Given the description of an element on the screen output the (x, y) to click on. 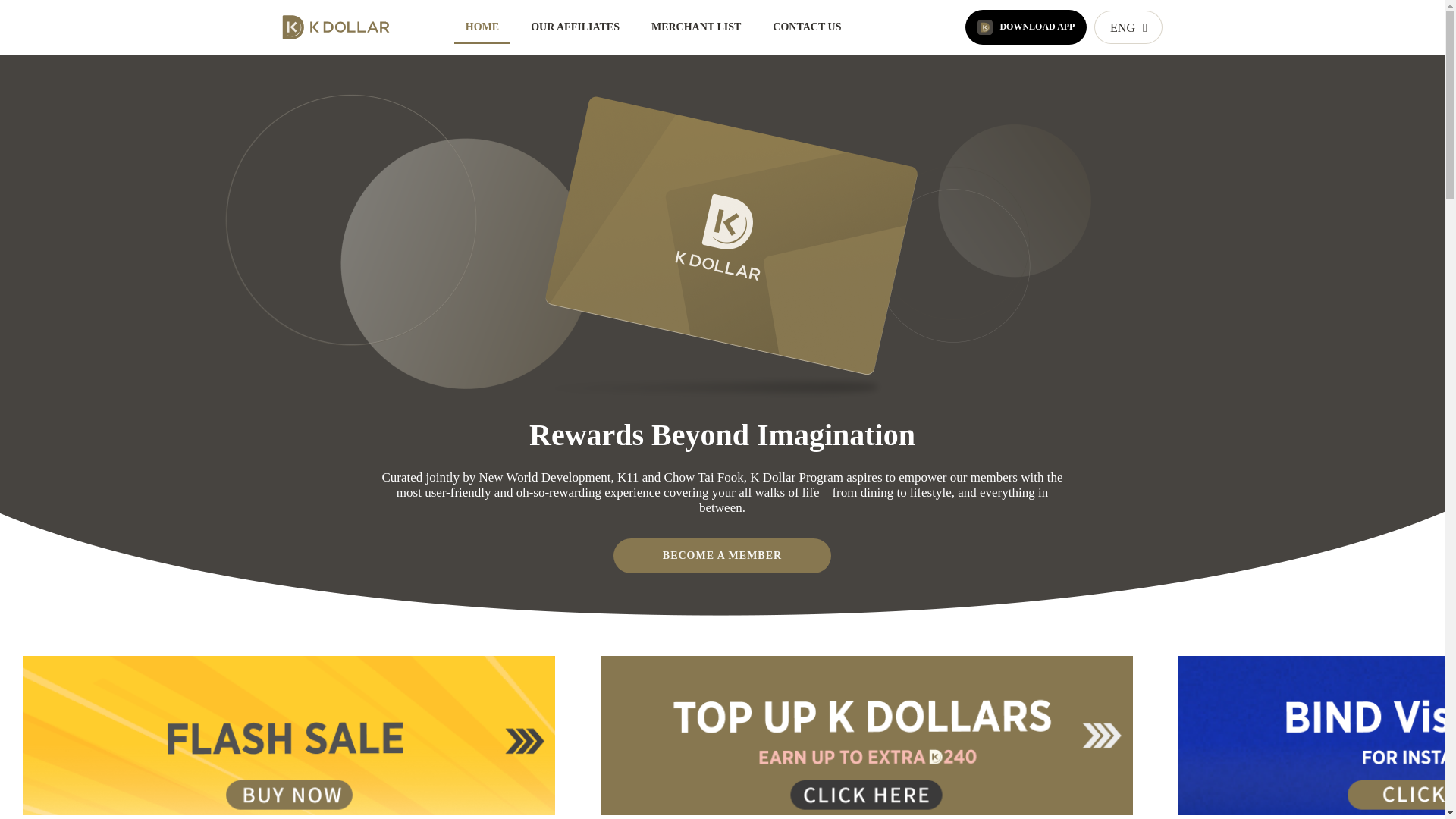
CONTACT US (806, 27)
OUR AFFILIATES (574, 26)
HOME (482, 27)
ENG (1127, 26)
MERCHANT LIST (696, 27)
BECOME A MEMBER (721, 555)
